Given the description of an element on the screen output the (x, y) to click on. 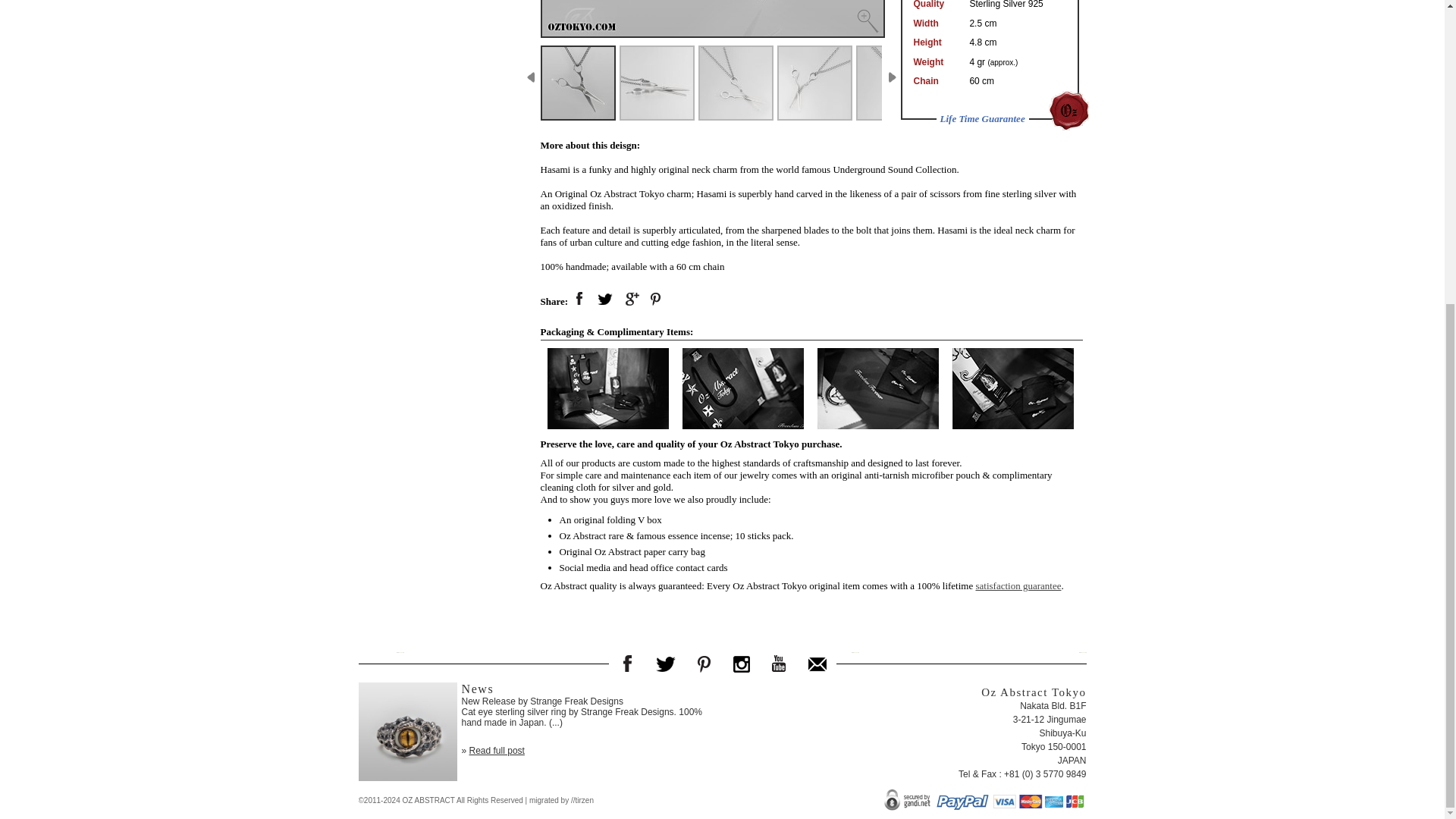
Post on Facebook (579, 299)
Add on your Pinterest (656, 299)
Tweet about it (604, 299)
